Given the description of an element on the screen output the (x, y) to click on. 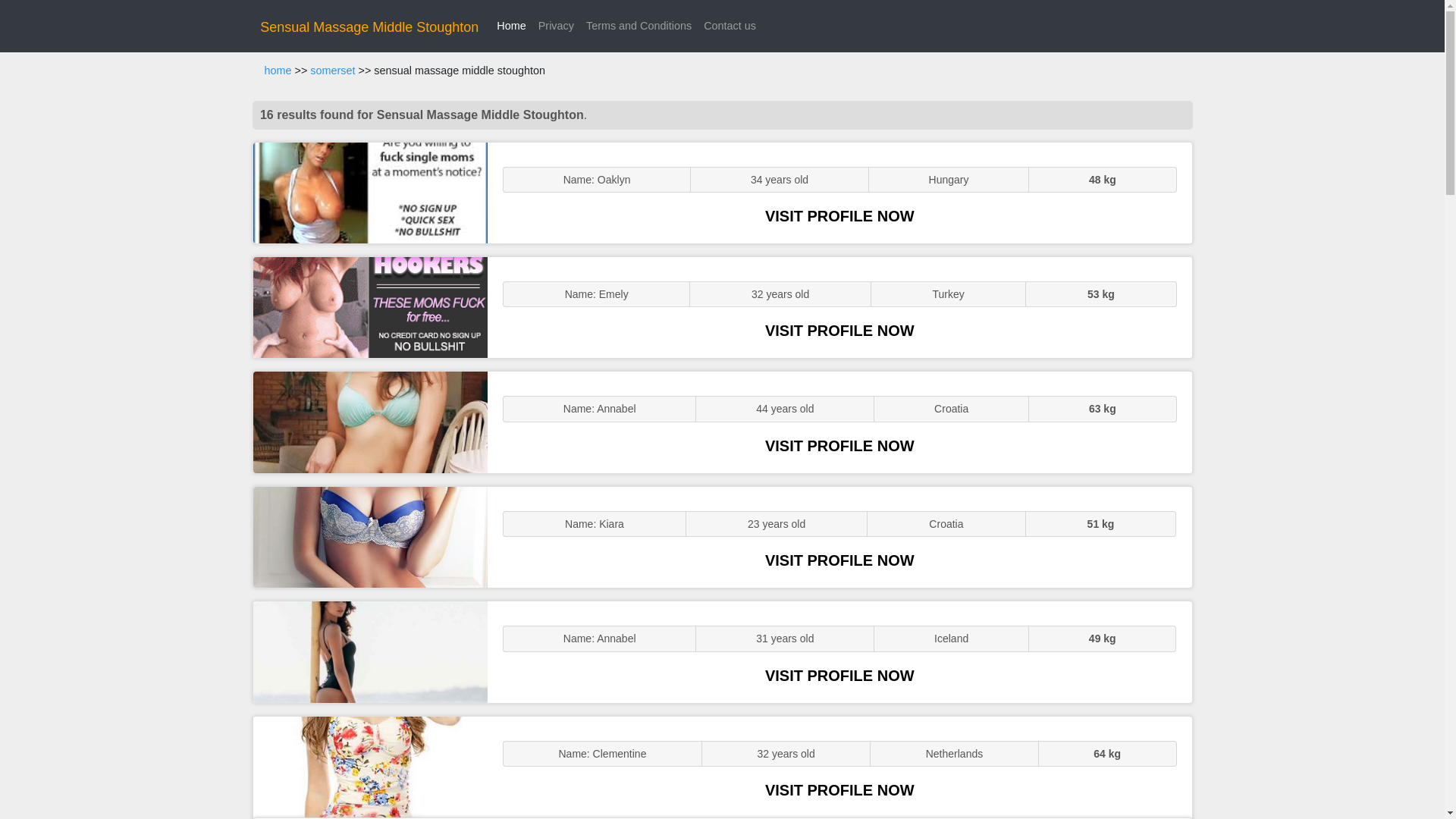
Massage (370, 766)
VISIT PROFILE NOW (839, 675)
VISIT PROFILE NOW (839, 445)
Privacy (555, 25)
VISIT PROFILE NOW (839, 790)
Terms and Conditions (638, 25)
VISIT PROFILE NOW (839, 560)
Sexy (370, 421)
 ENGLISH STUNNER (370, 192)
Sensual Massage Middle Stoughton (369, 27)
GFE (370, 307)
VISIT PROFILE NOW (839, 216)
VISIT PROFILE NOW (839, 330)
Sluts (370, 537)
somerset (332, 70)
